Given the description of an element on the screen output the (x, y) to click on. 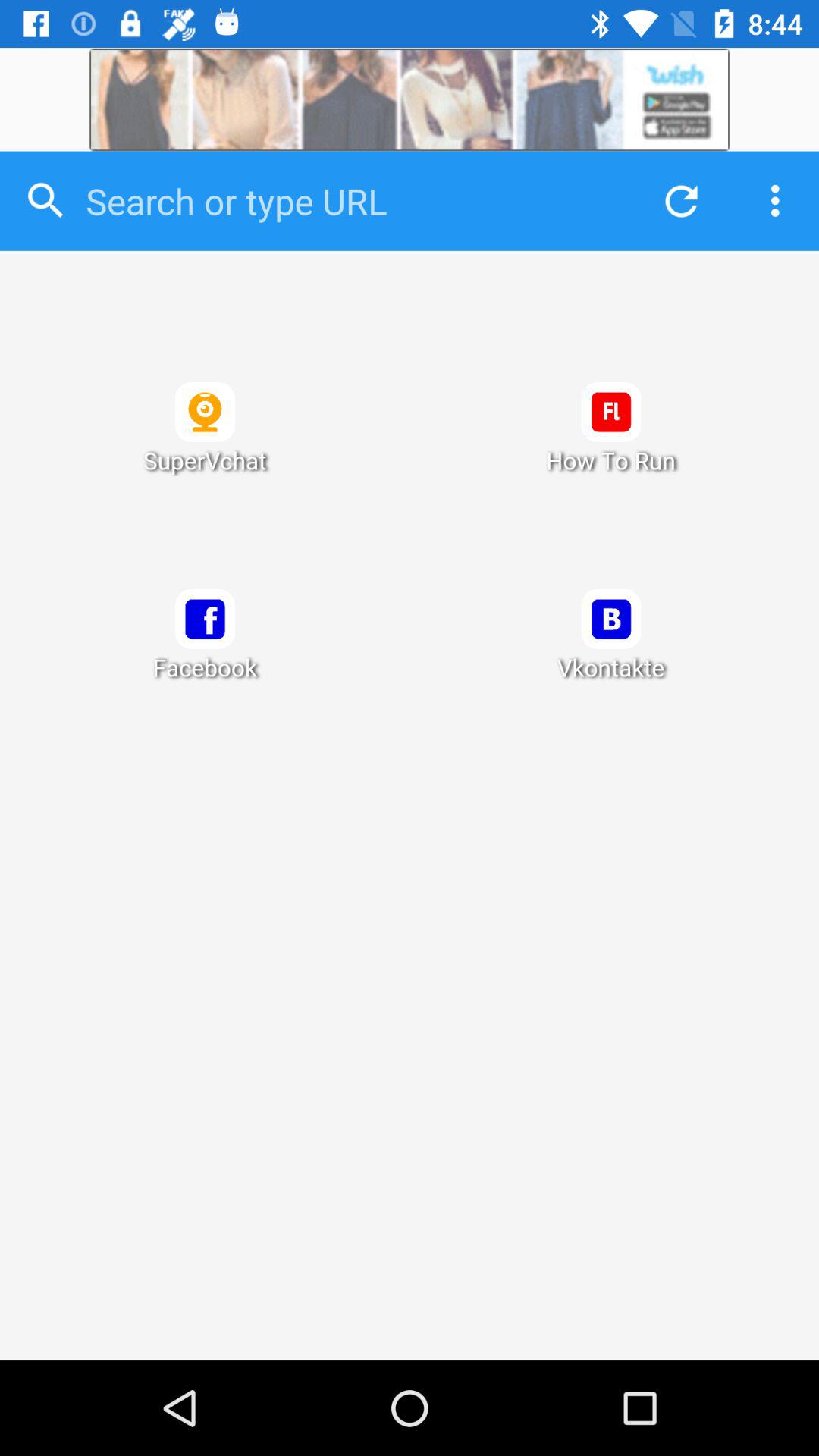
refresh (677, 200)
